Given the description of an element on the screen output the (x, y) to click on. 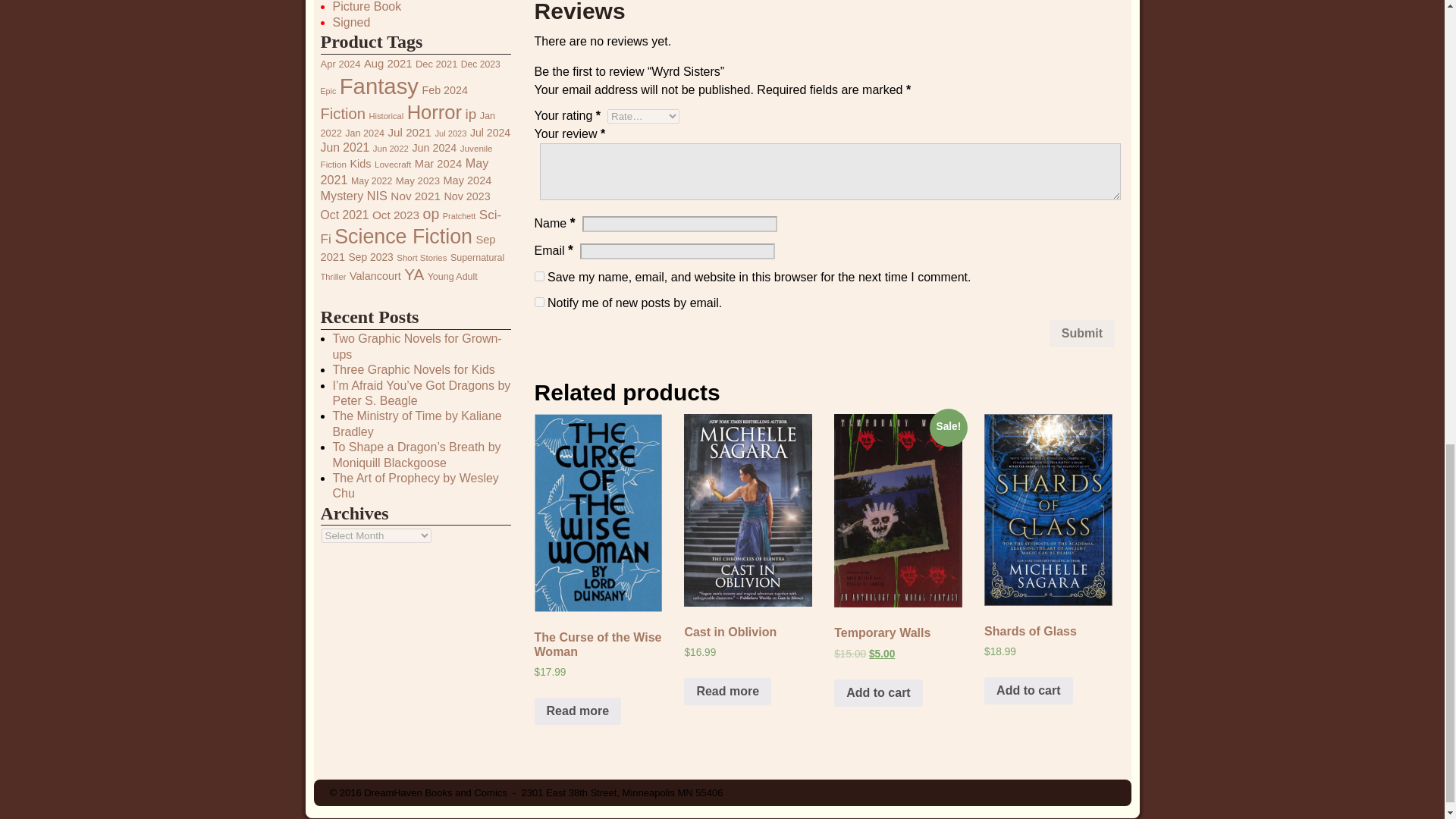
yes (539, 276)
Submit (1082, 333)
Add to cart (877, 692)
Read more (577, 710)
Submit (1082, 333)
subscribe (539, 302)
Read more (727, 691)
Add to cart (1027, 690)
